Given the description of an element on the screen output the (x, y) to click on. 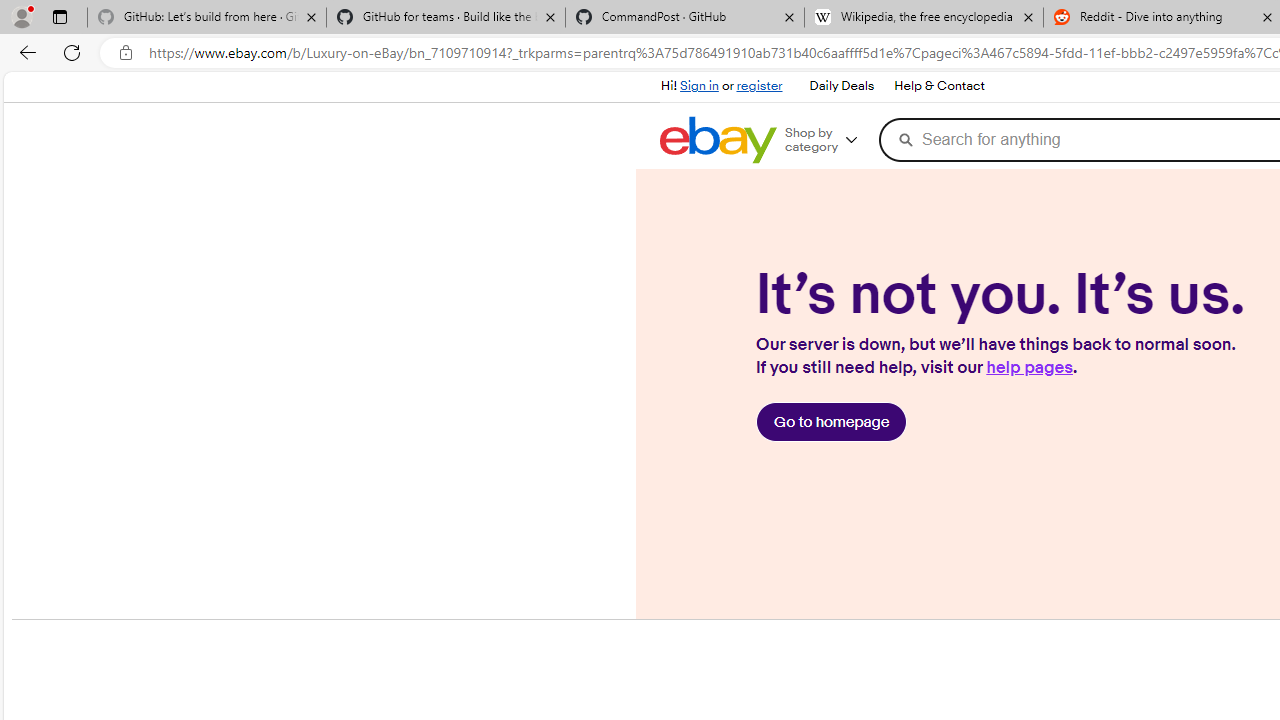
Sign in (699, 85)
eBay Home (718, 139)
Daily Deals (841, 86)
Help & Contact (938, 85)
